Given the description of an element on the screen output the (x, y) to click on. 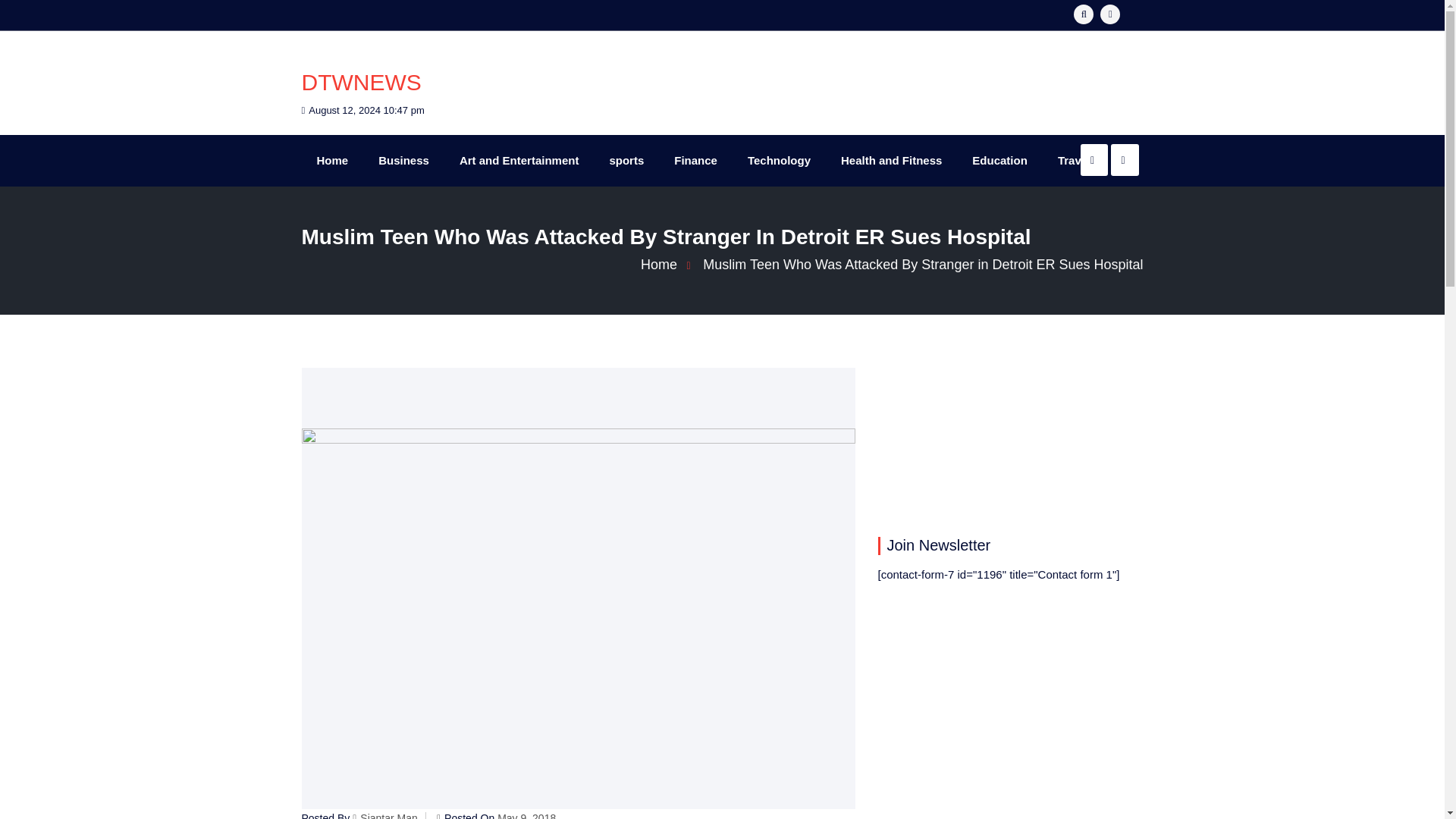
Home (670, 264)
Travel (1073, 160)
Art and Entertainment (519, 160)
Business (403, 160)
sports (626, 160)
Art and Entertainment (519, 160)
Home (332, 160)
Health and Fitness (890, 160)
Education (999, 160)
